Given the description of an element on the screen output the (x, y) to click on. 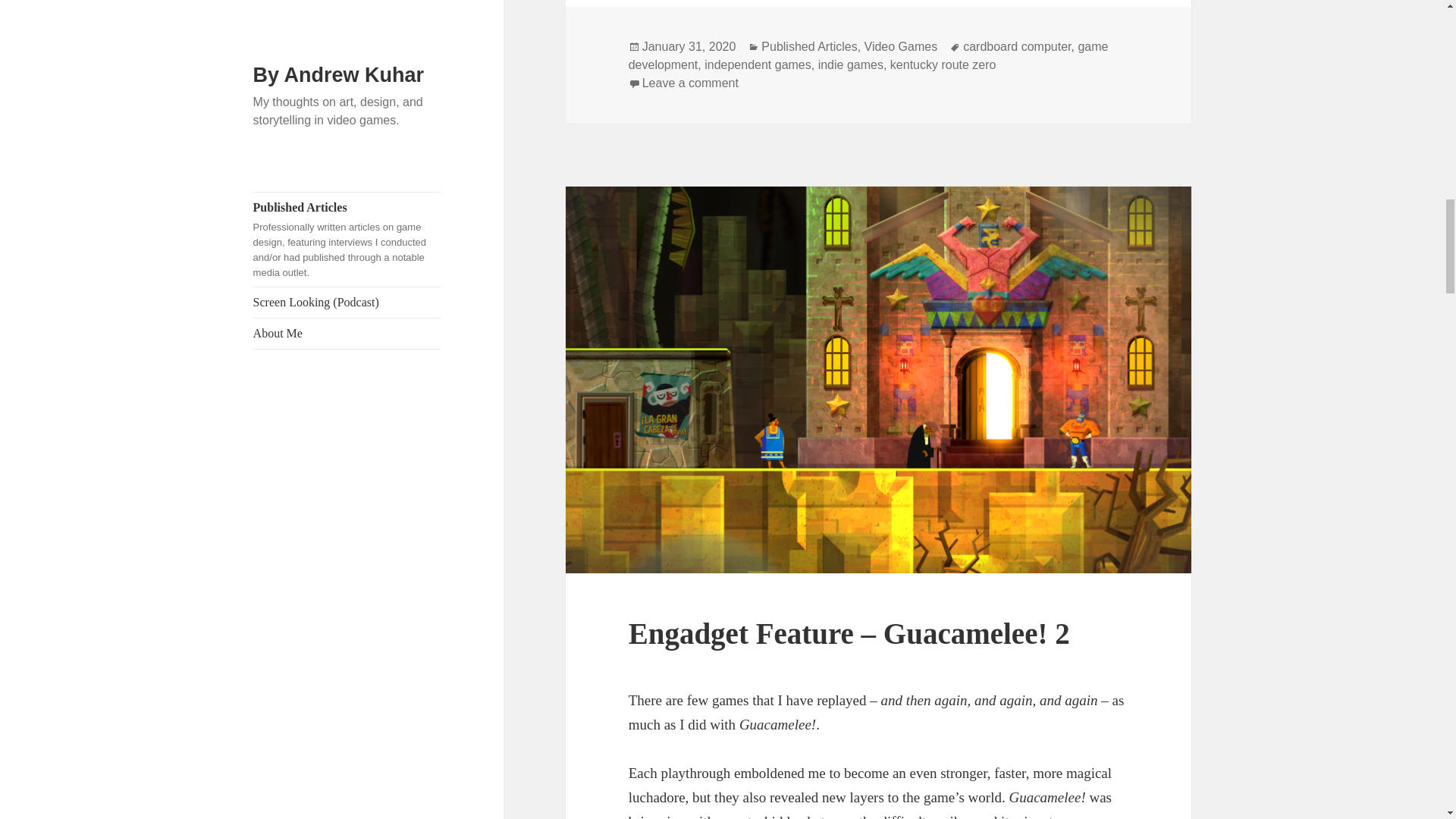
January 31, 2020 (689, 47)
independent games (757, 65)
kentucky route zero (942, 65)
Published Articles (809, 47)
indie games (850, 65)
game development (868, 56)
cardboard computer (1016, 47)
Video Games (900, 47)
